Given the description of an element on the screen output the (x, y) to click on. 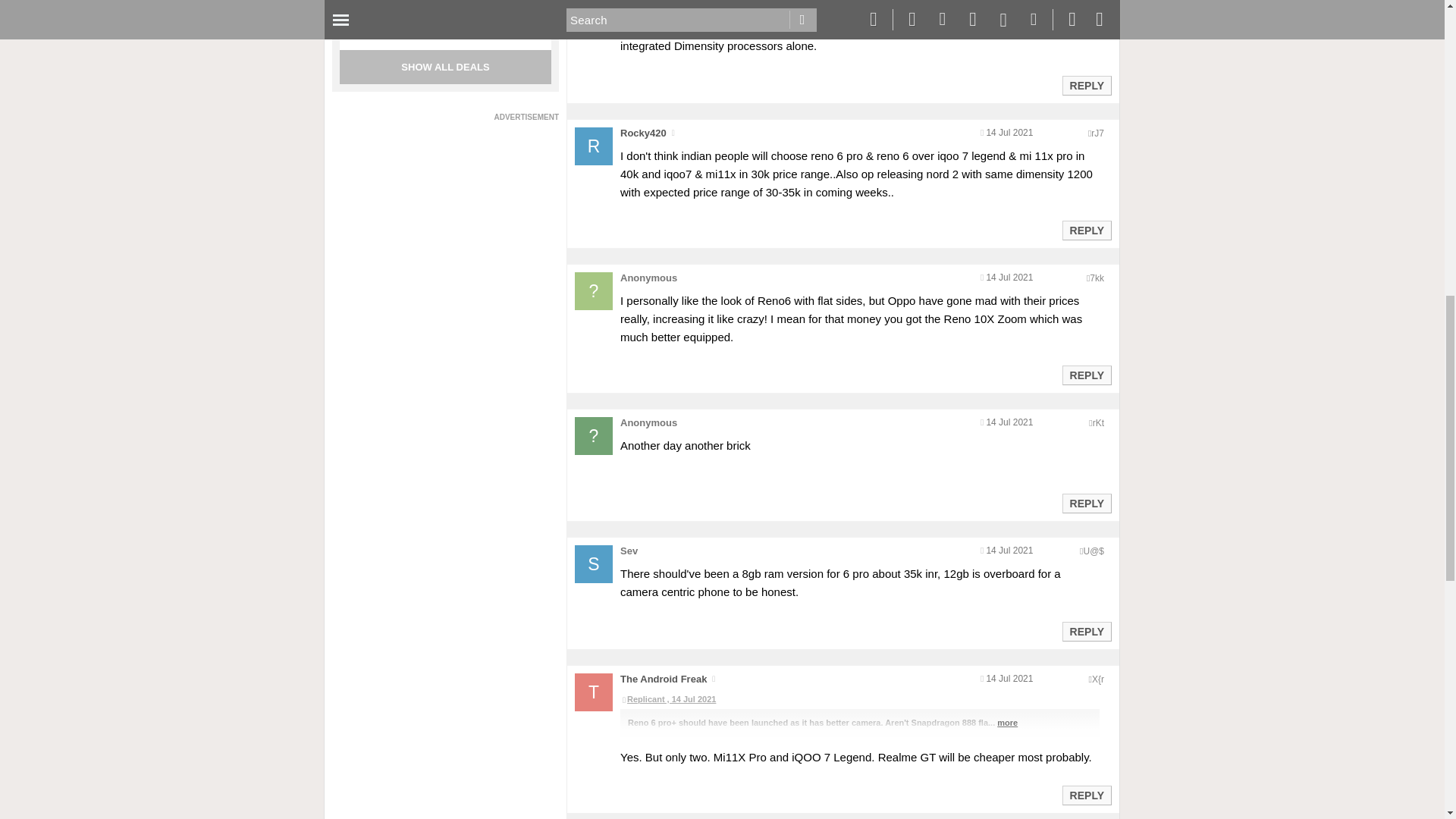
Reply to this post (1086, 503)
Encoded anonymized location (1096, 132)
Reply to this post (1086, 230)
Encoded anonymized location (1098, 422)
REPLY (1086, 375)
Replicant , 14 Jul 2021 (859, 699)
REPLY (1086, 631)
Encoded anonymized location (1097, 679)
REPLY (1086, 85)
Reply to this post (1086, 631)
